Given the description of an element on the screen output the (x, y) to click on. 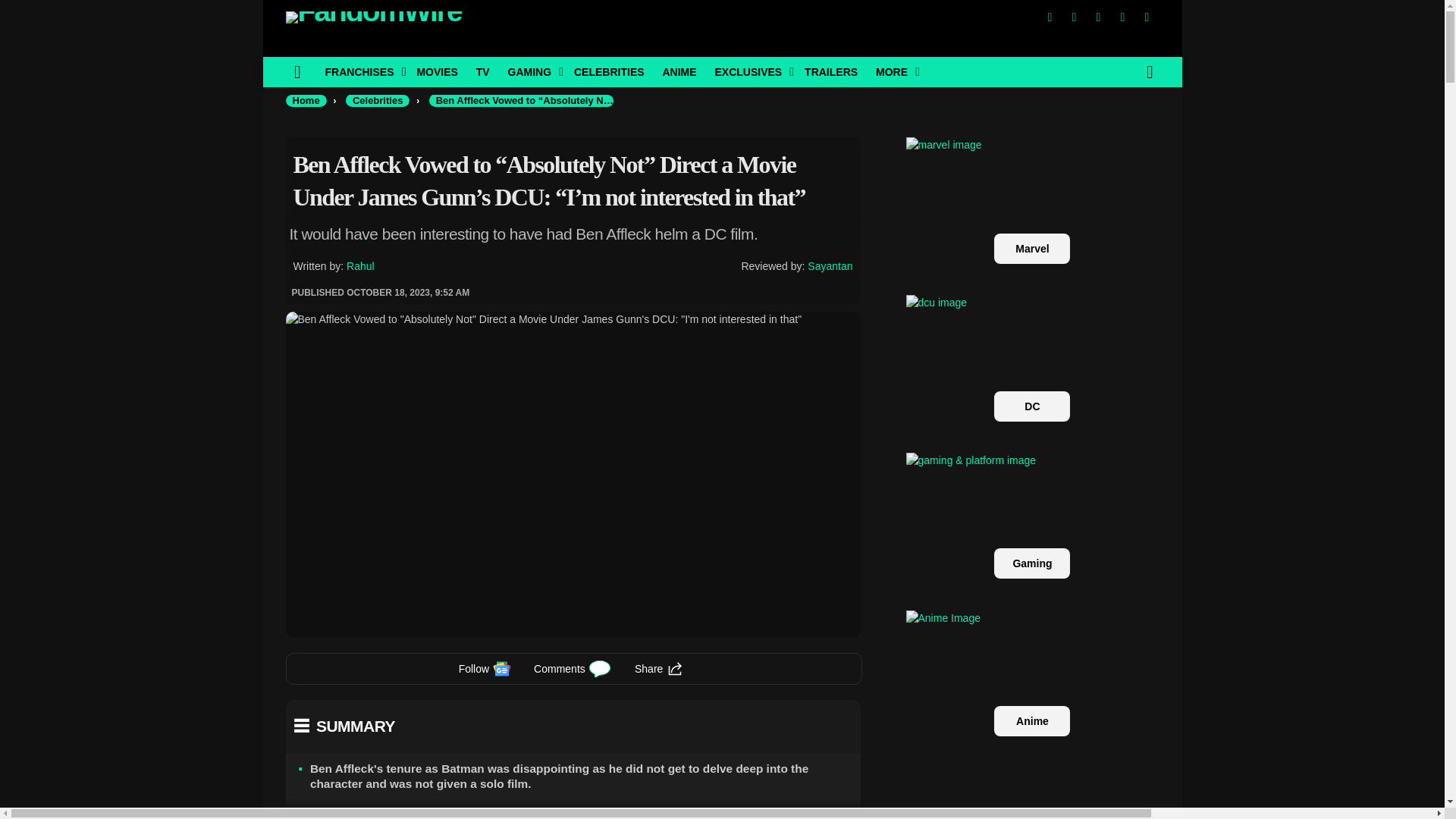
GAMING (532, 71)
Twitter (1073, 17)
MOVIES (436, 71)
Insta (1097, 17)
TRAILERS (830, 71)
LinkedIn (1121, 17)
FRANCHISES (361, 71)
Menu (296, 71)
Facebook (1048, 17)
TV (482, 71)
EXCLUSIVES (749, 71)
CELEBRITIES (609, 71)
ANIME (678, 71)
MORE (893, 71)
YT (1146, 17)
